Given the description of an element on the screen output the (x, y) to click on. 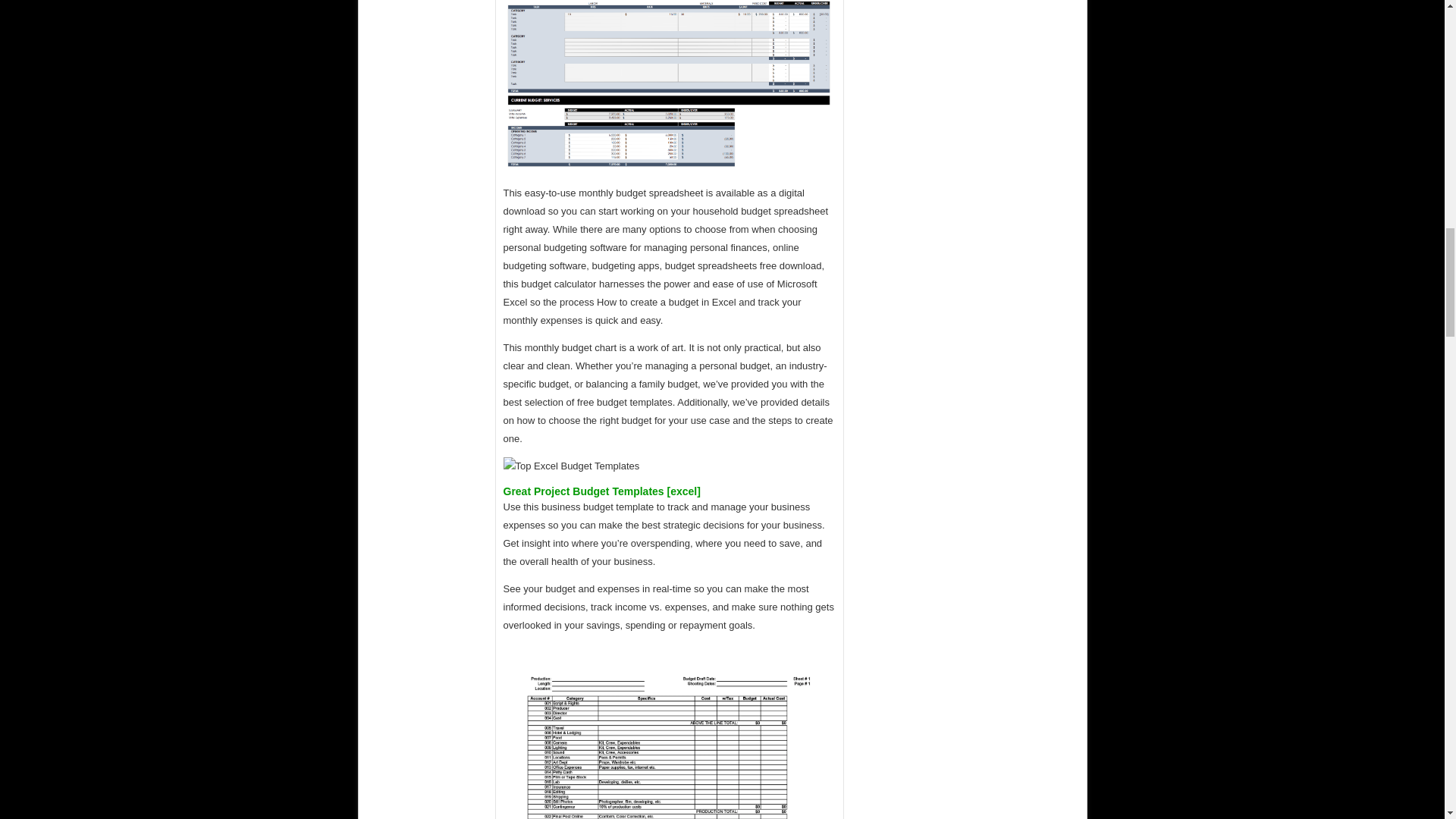
Top Excel Budget Templates (669, 84)
Top Excel Budget Templates (669, 731)
Top Excel Budget Templates (571, 466)
